Given the description of an element on the screen output the (x, y) to click on. 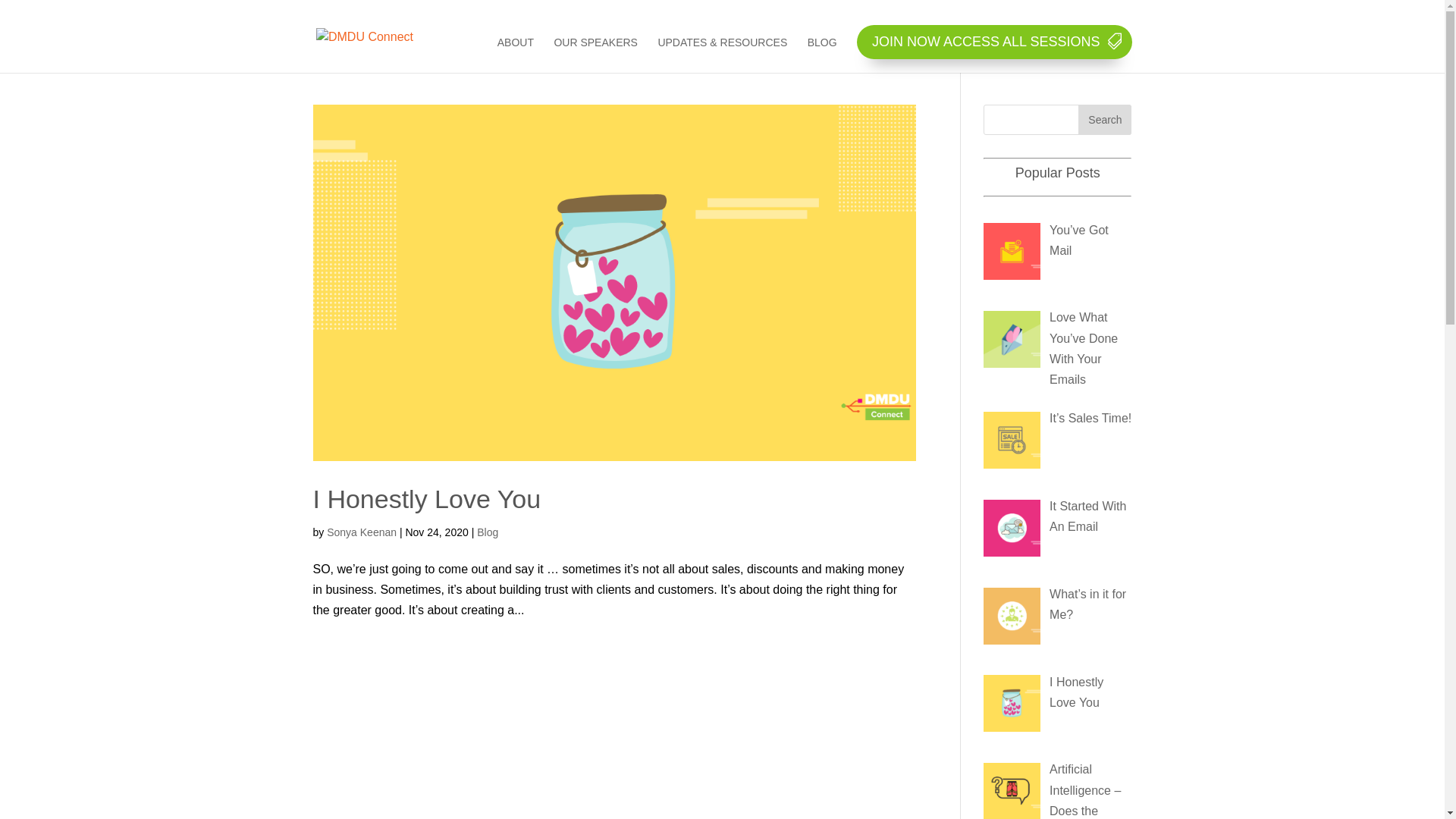
Search Element type: text (1104, 119)
It Started With An Email Element type: text (1087, 516)
BLOG Element type: text (822, 54)
I Honestly Love You Element type: text (1076, 692)
Blog Element type: text (487, 532)
OUR SPEAKERS Element type: text (595, 54)
JOIN NOW ACCESS ALL SESSIONS Element type: text (993, 42)
ABOUT Element type: text (515, 54)
UPDATES & RESOURCES Element type: text (722, 54)
I Honestly Love You Element type: text (426, 498)
Sonya Keenan Element type: text (361, 532)
